Given the description of an element on the screen output the (x, y) to click on. 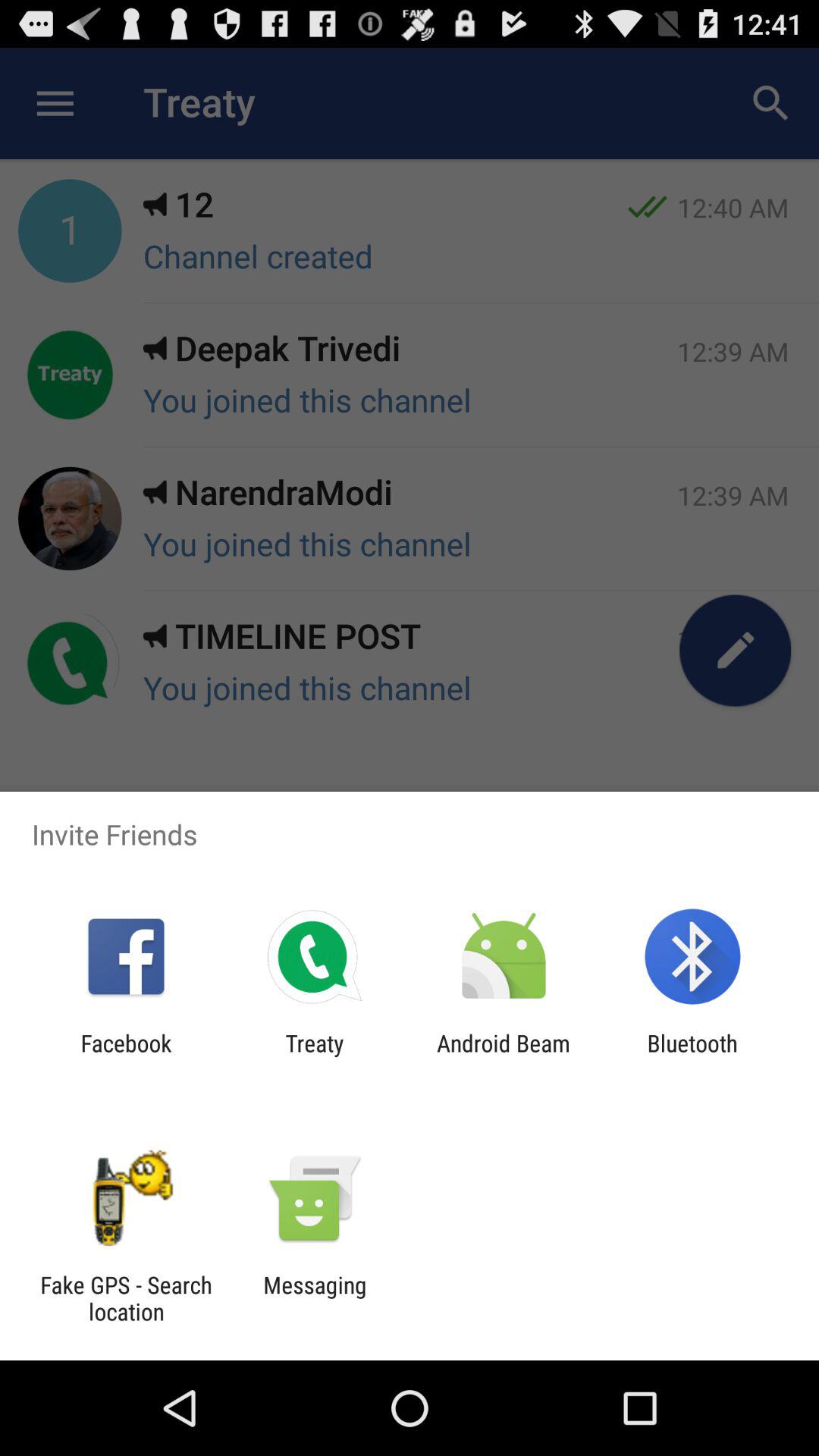
scroll to android beam app (503, 1056)
